Given the description of an element on the screen output the (x, y) to click on. 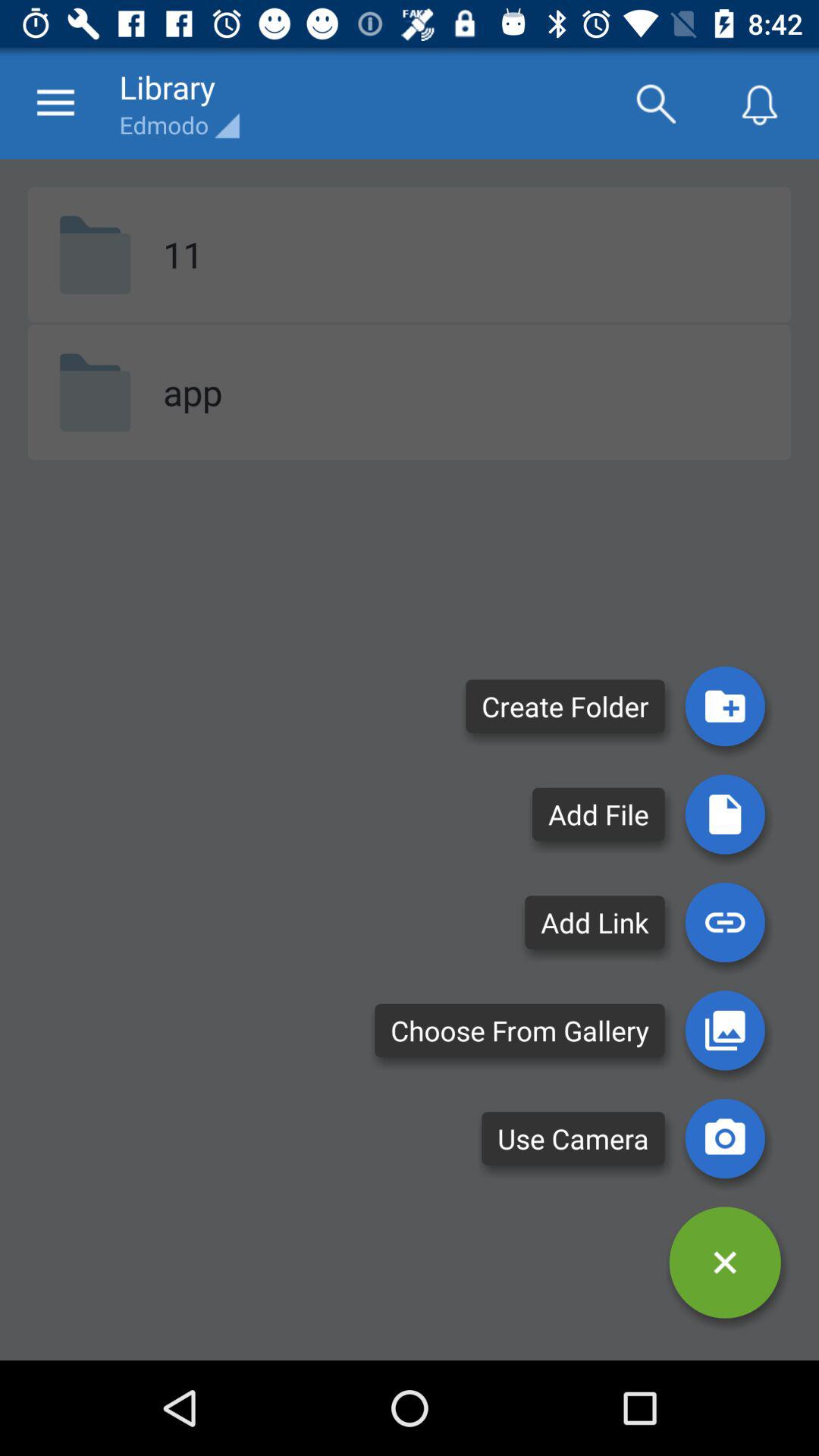
turn on the item above the app item (183, 254)
